Given the description of an element on the screen output the (x, y) to click on. 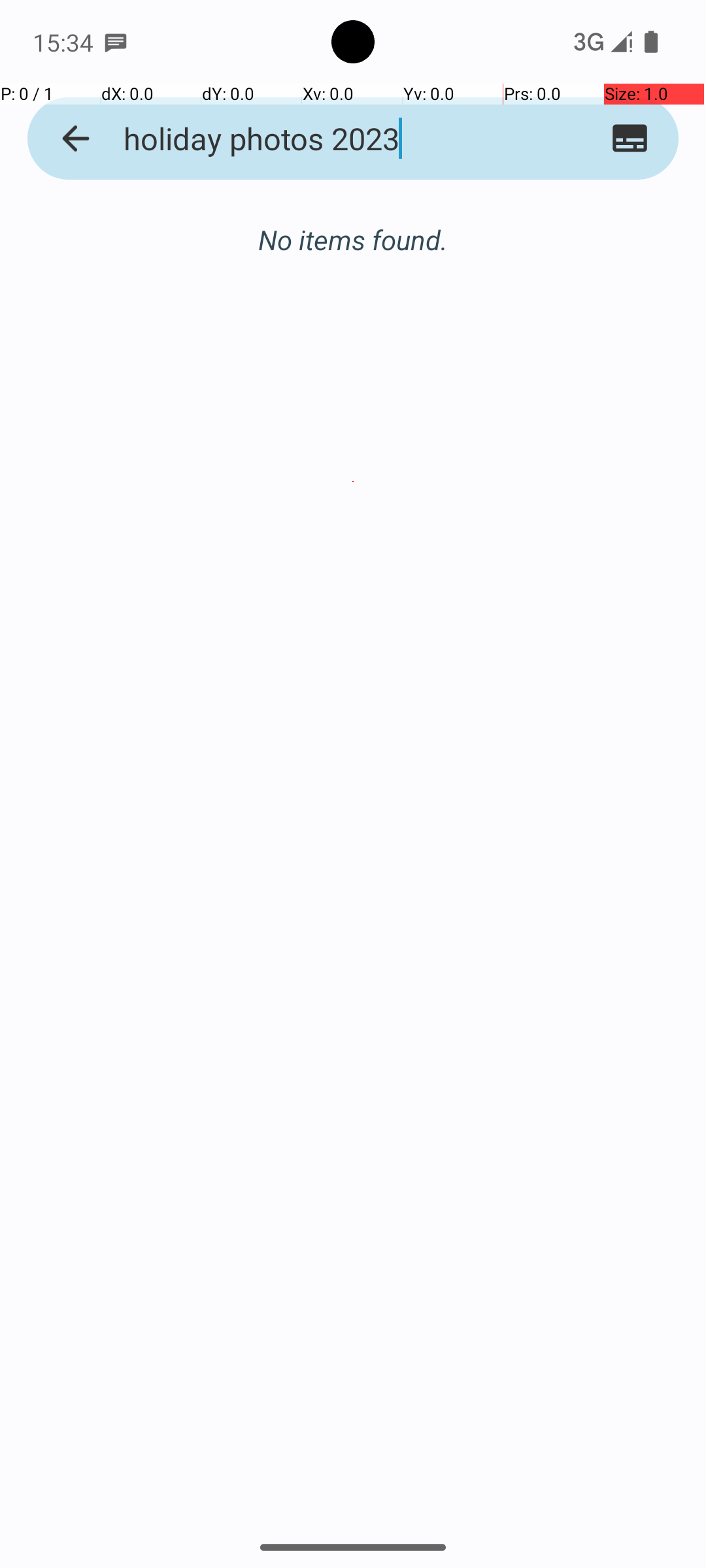
No items found. Element type: android.widget.TextView (353, 225)
holiday photos 2023 Element type: android.widget.EditText (328, 138)
Toggle filename visibility Element type: android.widget.Button (629, 138)
